Given the description of an element on the screen output the (x, y) to click on. 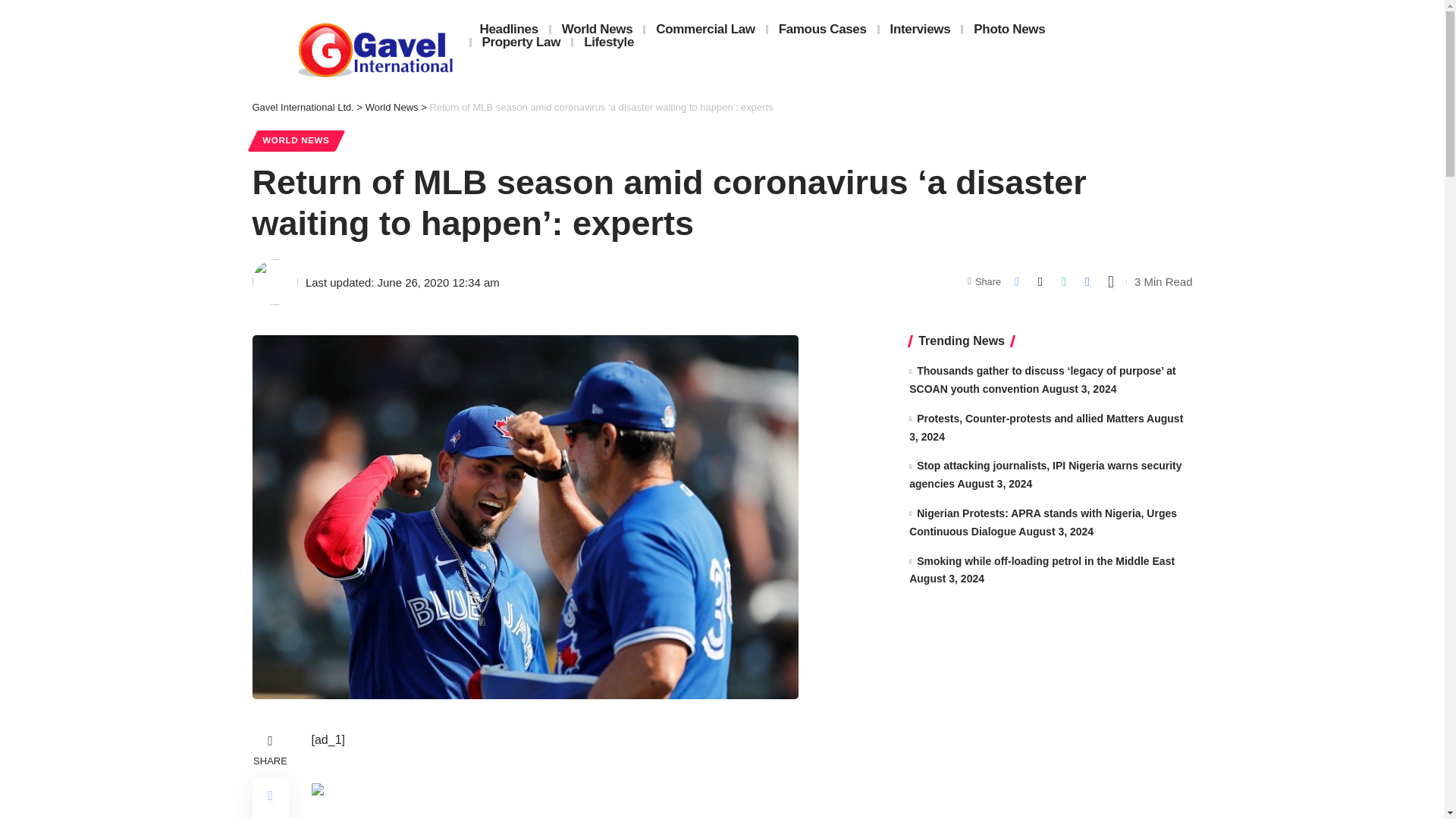
World News (392, 107)
World News (597, 29)
Commercial Law (705, 29)
Gavel International Ltd. (302, 107)
Go to Gavel International Ltd.. (302, 107)
Go to the World News Category archives. (392, 107)
Lifestyle (609, 42)
WORLD NEWS (295, 140)
Photo News (1008, 29)
Property Law (521, 42)
Famous Cases (822, 29)
Headlines (508, 29)
Interviews (919, 29)
